Given the description of an element on the screen output the (x, y) to click on. 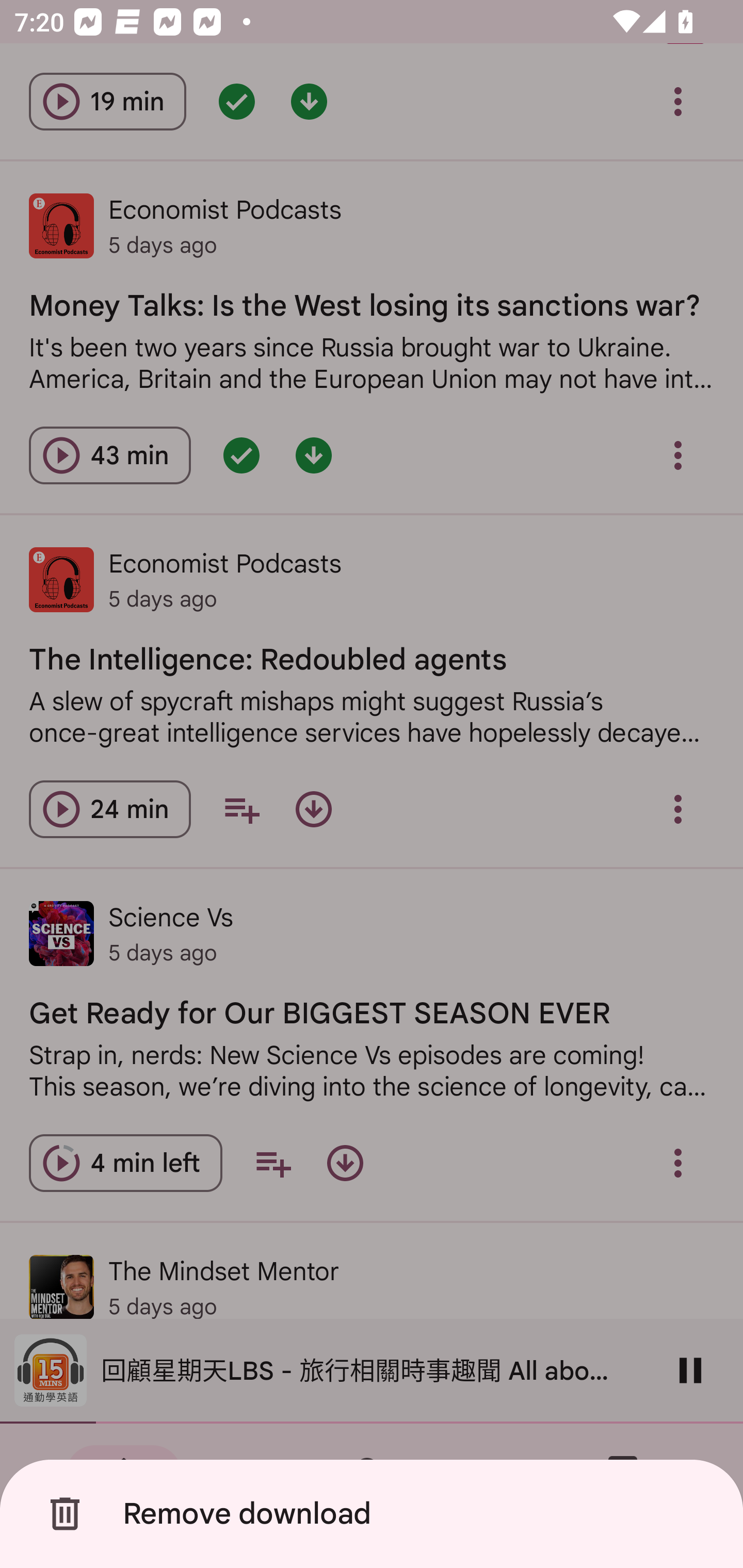
Remove download (375, 1513)
